Given the description of an element on the screen output the (x, y) to click on. 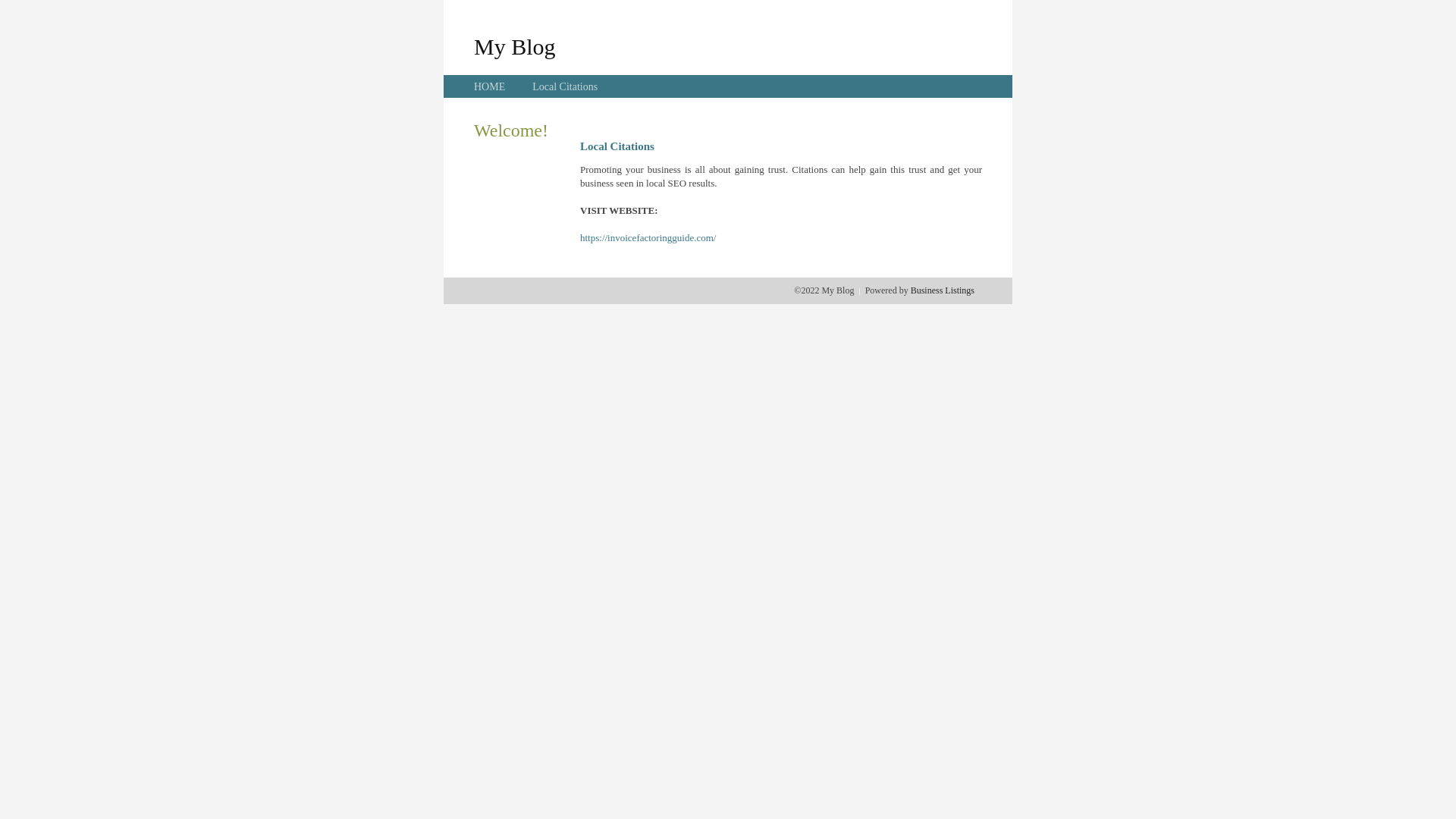
Business Listings Element type: text (942, 290)
https://invoicefactoringguide.com/ Element type: text (647, 237)
Local Citations Element type: text (564, 86)
My Blog Element type: text (514, 46)
HOME Element type: text (489, 86)
